Given the description of an element on the screen output the (x, y) to click on. 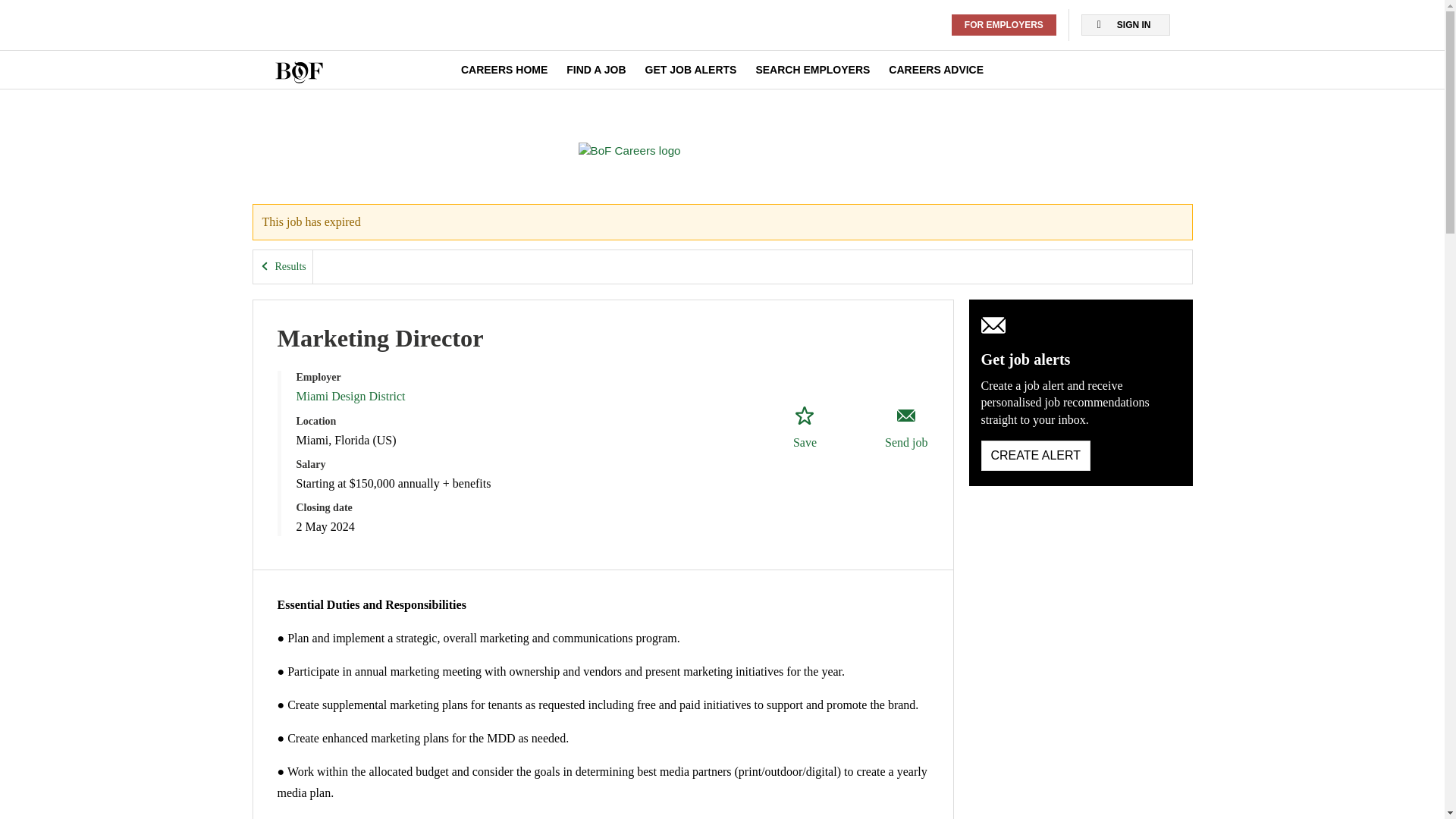
Miami Design District (349, 416)
FIND A JOB (596, 69)
CREATE ALERT (1035, 476)
View more (315, 583)
SEARCH EMPLOYERS (812, 69)
CAREERS ADVICE (936, 69)
FOR EMPLOYERS (1004, 25)
Results (283, 287)
GET JOB ALERTS (690, 69)
CAREERS HOME (504, 69)
SIGN IN (1125, 25)
BoF Careers (722, 158)
